Given the description of an element on the screen output the (x, y) to click on. 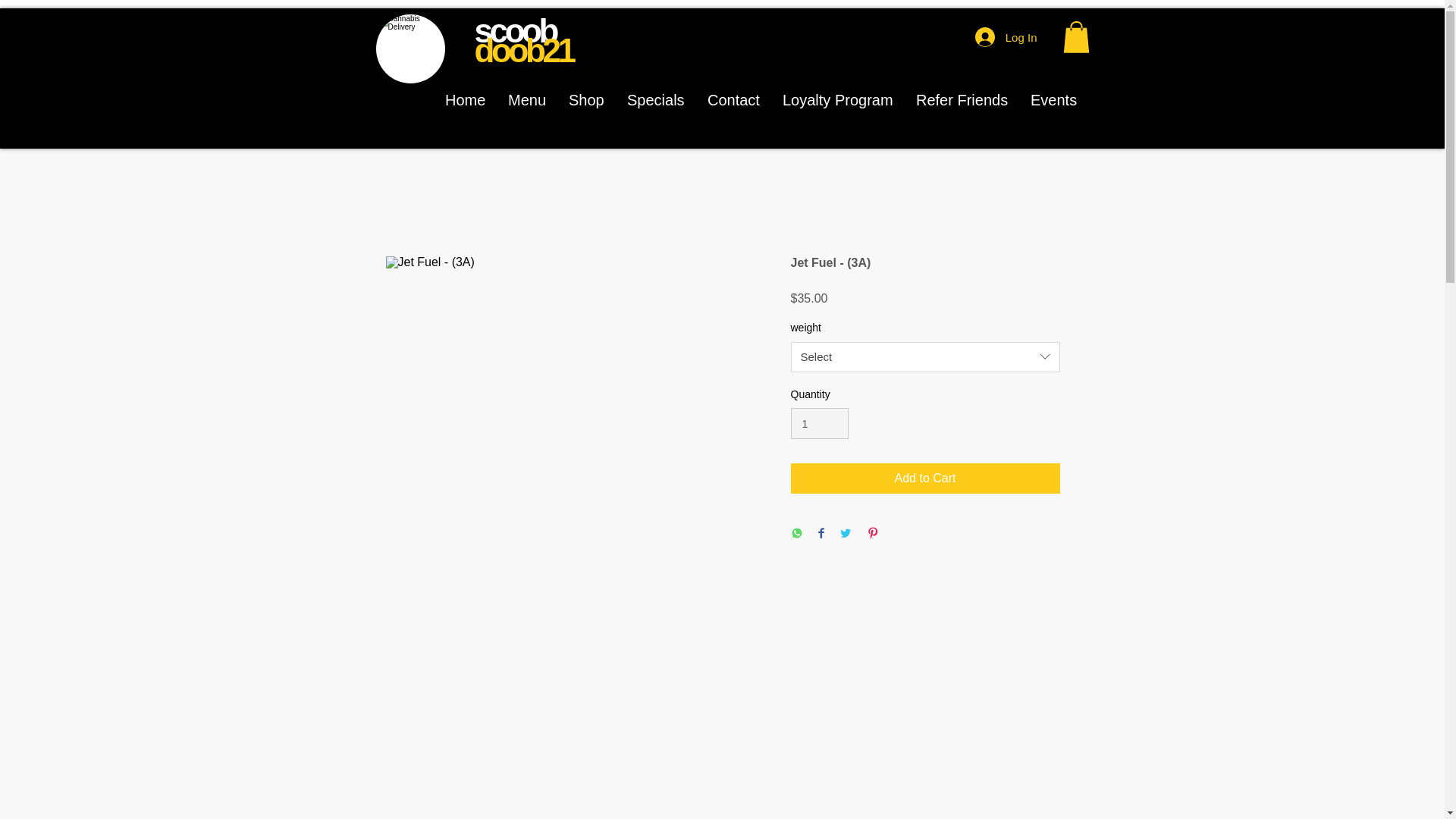
Events (1053, 99)
Specials (655, 99)
Contact (733, 99)
Loyalty Program (837, 99)
Add to Cart (924, 478)
Select (924, 357)
1 (818, 422)
Home (464, 99)
Shop (586, 99)
Log In (1005, 36)
Refer Friends (961, 99)
Menu (526, 99)
